Given the description of an element on the screen output the (x, y) to click on. 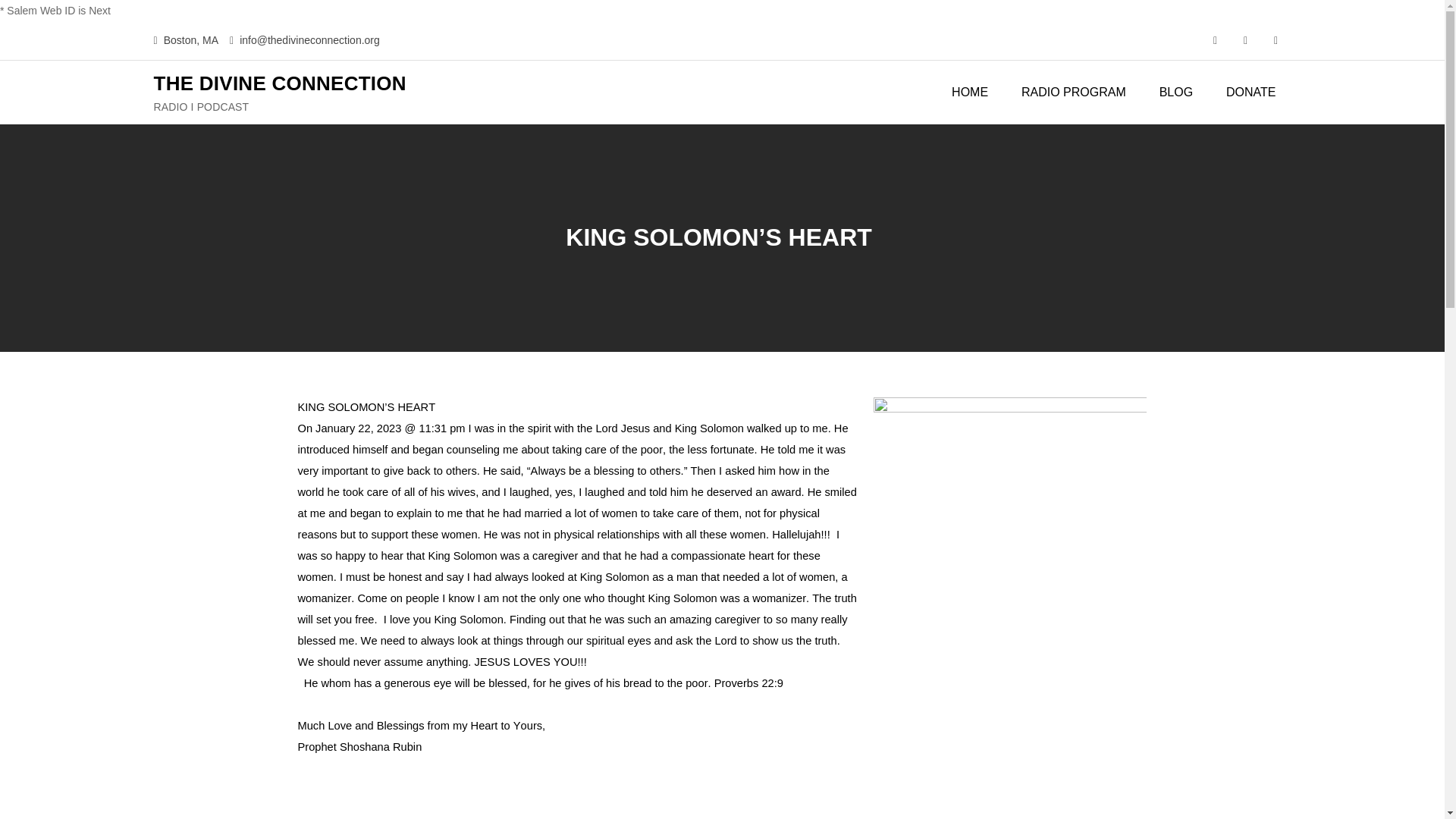
THE DIVINE CONNECTION (279, 82)
HOME (969, 92)
The Divine Connection (1010, 782)
RADIO PROGRAM (1073, 92)
DONATE (1250, 92)
BLOG (1176, 92)
